Given the description of an element on the screen output the (x, y) to click on. 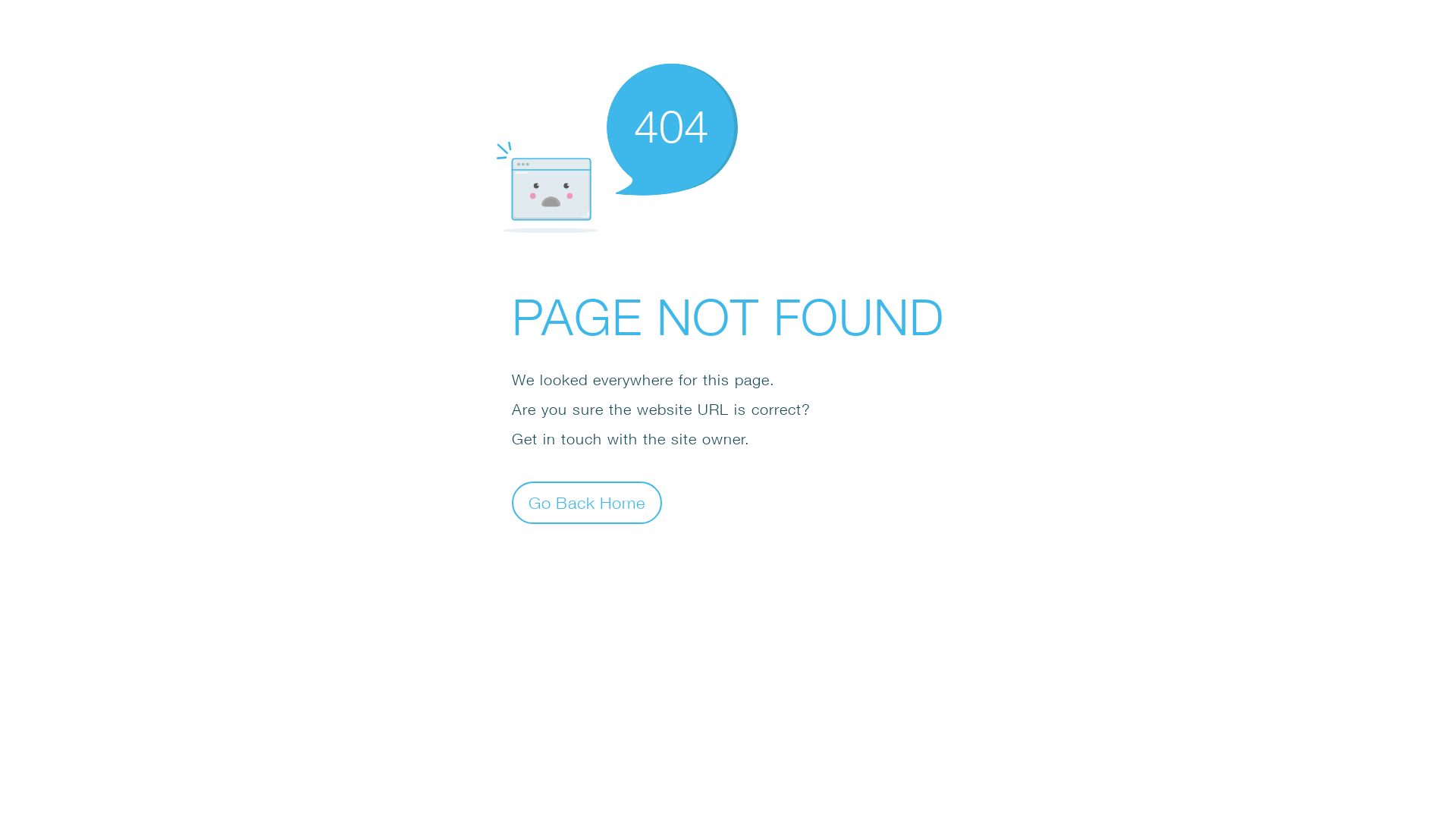
Go Back Home Element type: text (586, 502)
